Given the description of an element on the screen output the (x, y) to click on. 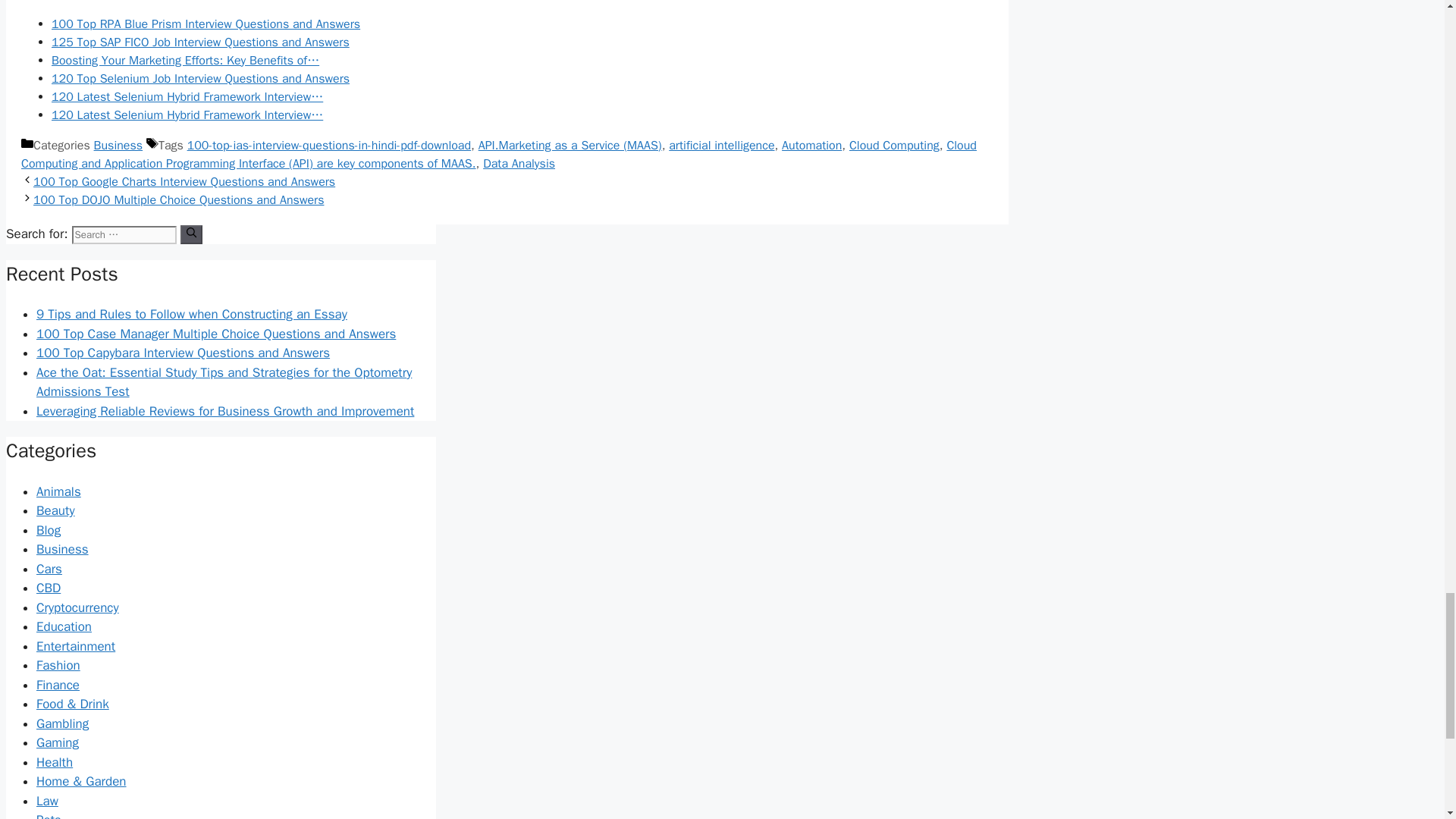
Data Analysis (518, 163)
Beauty (55, 510)
9 Tips and Rules to Follow when Constructing an Essay (191, 314)
Cloud Computing (893, 145)
100 Top RPA Blue Prism Interview Questions and Answers (204, 23)
Business (118, 145)
100 Top DOJO Multiple Choice Questions and Answers (178, 200)
Animals (58, 491)
100 Top Capybara Interview Questions and Answers (183, 352)
